Given the description of an element on the screen output the (x, y) to click on. 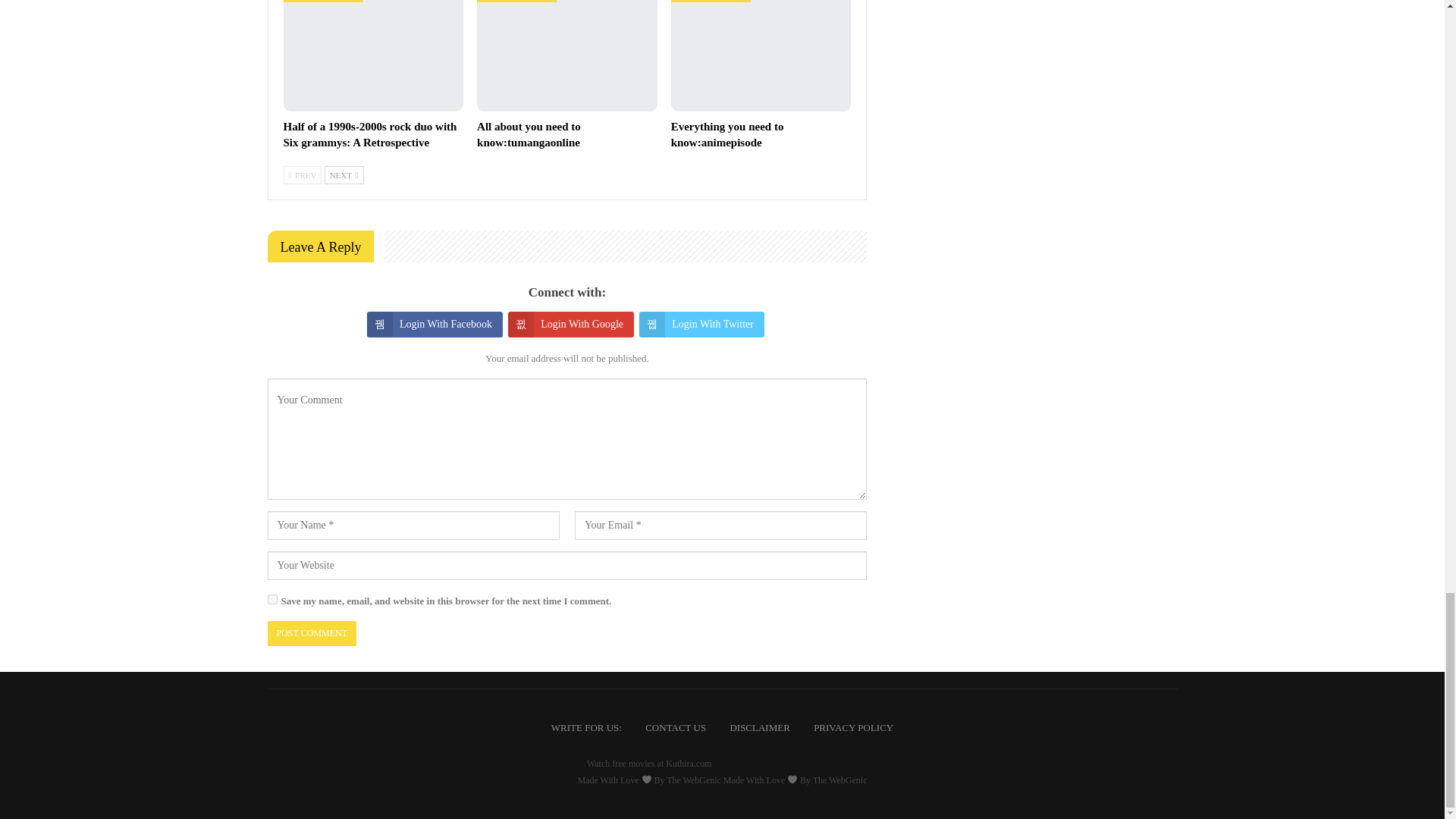
Everything you need to know:animepisode (761, 55)
yes (271, 599)
All about you need to know:tumangaonline (528, 134)
Post Comment (310, 633)
All about you need to know:tumangaonline (567, 55)
